Given the description of an element on the screen output the (x, y) to click on. 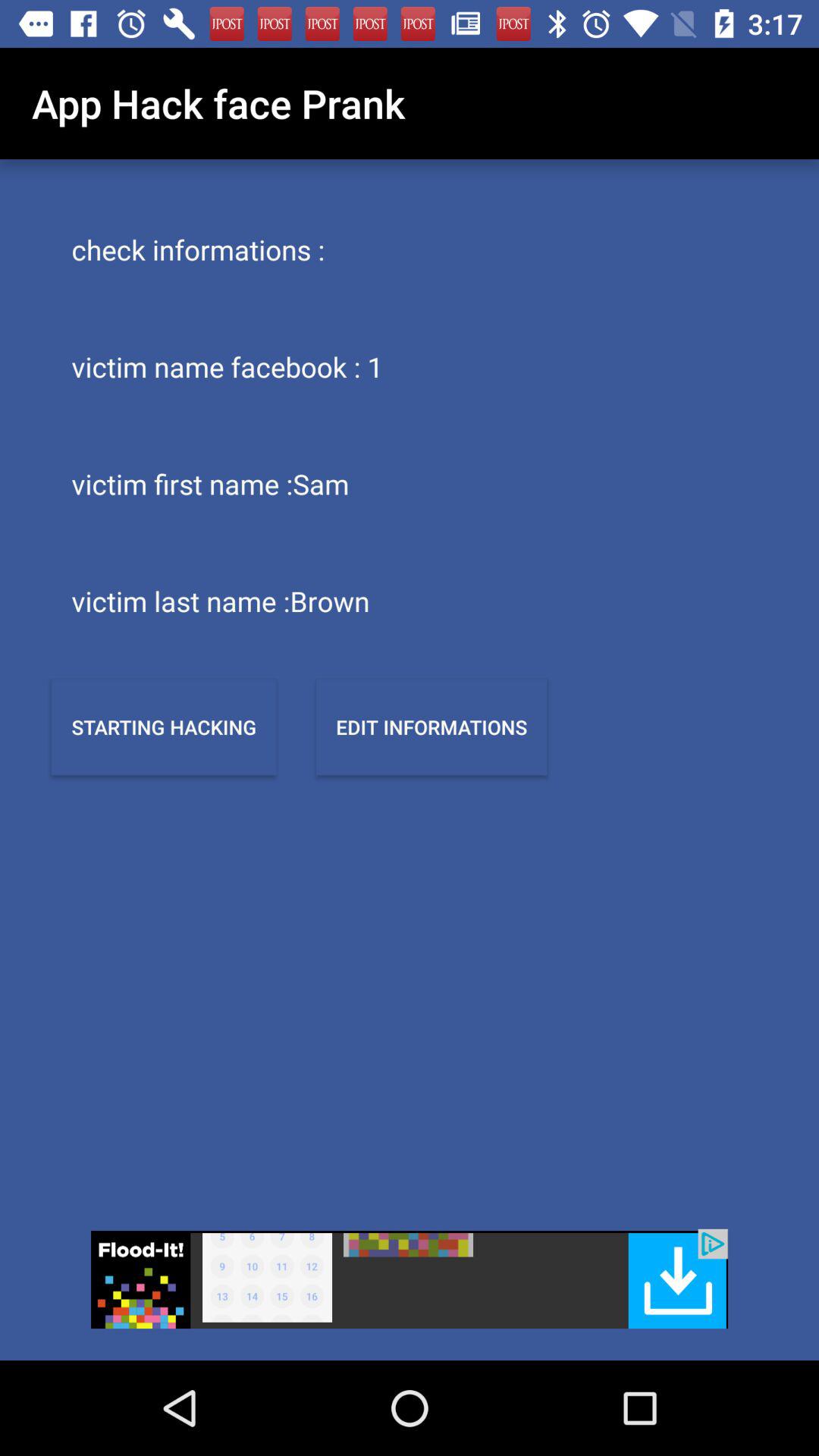
go to advertisement (409, 1278)
